Given the description of an element on the screen output the (x, y) to click on. 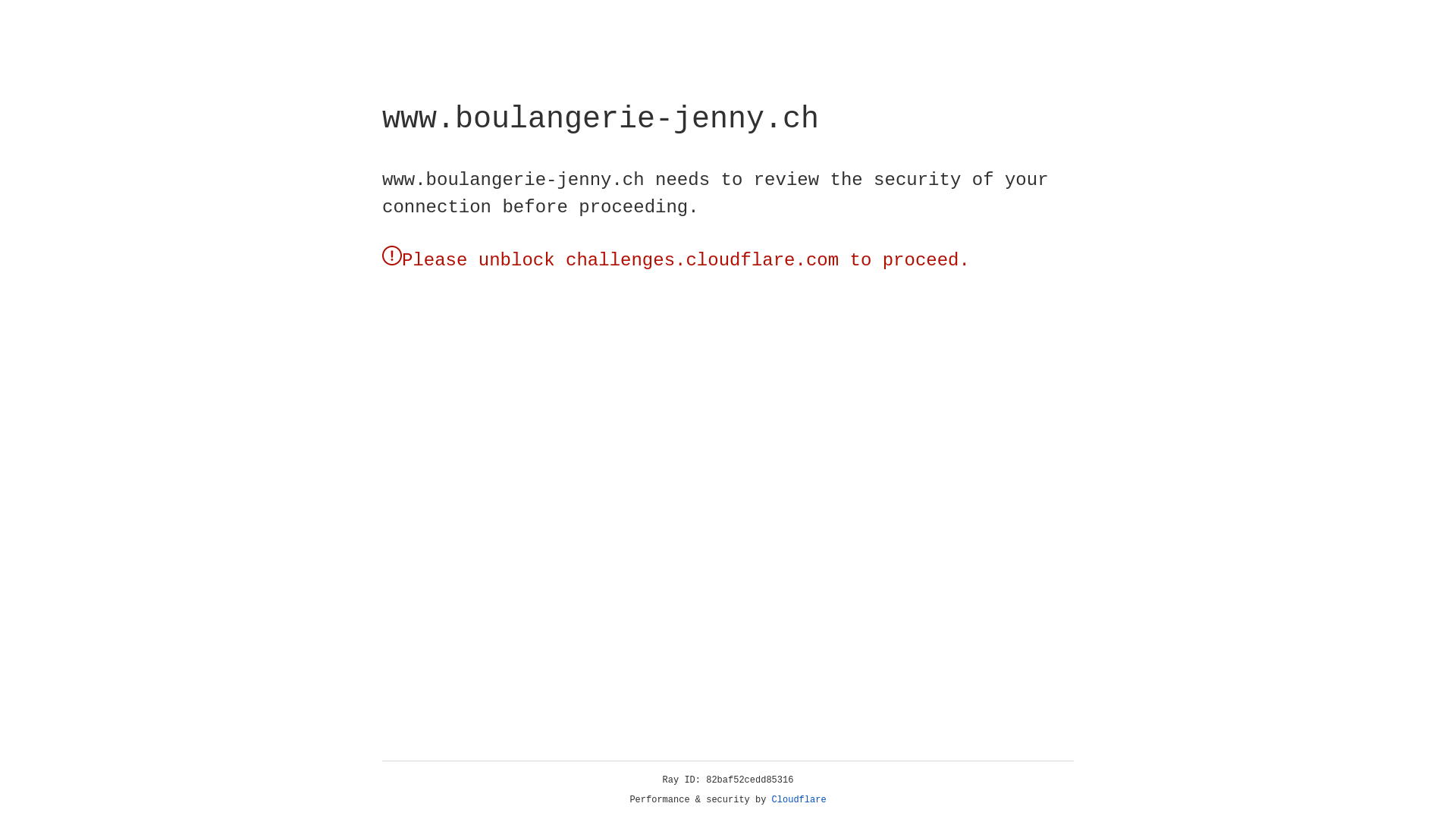
Cloudflare Element type: text (798, 799)
